Given the description of an element on the screen output the (x, y) to click on. 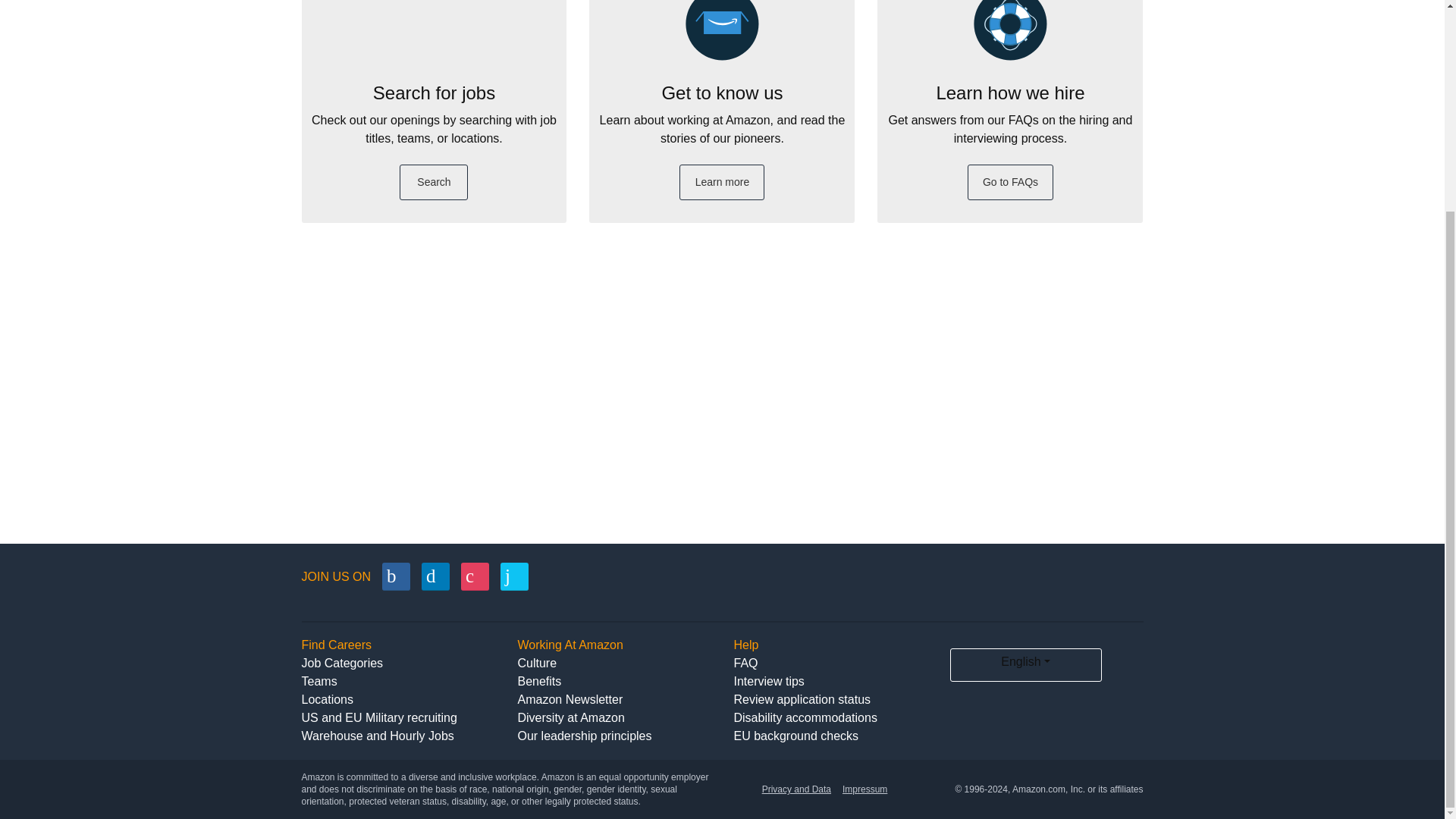
US and EU Military recruiting (379, 717)
Search (432, 181)
Job Categories (342, 662)
Go to FAQs (1011, 181)
Teams (319, 680)
Warehouse and Hourly Jobs (377, 735)
Locations (327, 698)
Learn more (721, 181)
Culture (536, 662)
